Given the description of an element on the screen output the (x, y) to click on. 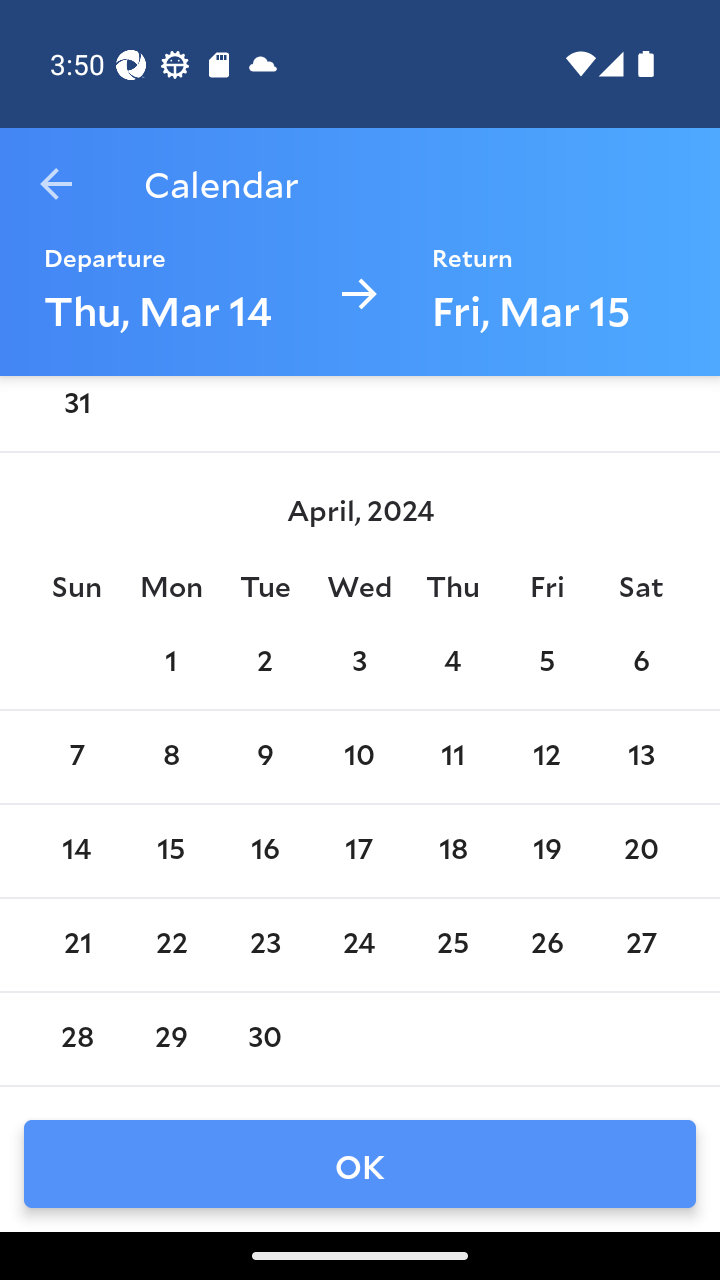
Navigate up (56, 184)
31 (76, 410)
1 (170, 662)
2 (264, 662)
3 (358, 662)
4 (453, 662)
5 (546, 662)
6 (641, 662)
7 (76, 756)
8 (170, 756)
9 (264, 756)
10 (358, 756)
11 (453, 756)
12 (546, 756)
13 (641, 756)
14 (76, 850)
15 (170, 850)
16 (264, 850)
17 (358, 850)
18 (453, 850)
19 (546, 850)
20 (641, 850)
21 (76, 944)
22 (170, 944)
23 (264, 944)
24 (358, 944)
25 (453, 944)
26 (546, 944)
27 (641, 944)
28 (76, 1038)
29 (170, 1038)
30 (264, 1038)
OK (359, 1164)
